Given the description of an element on the screen output the (x, y) to click on. 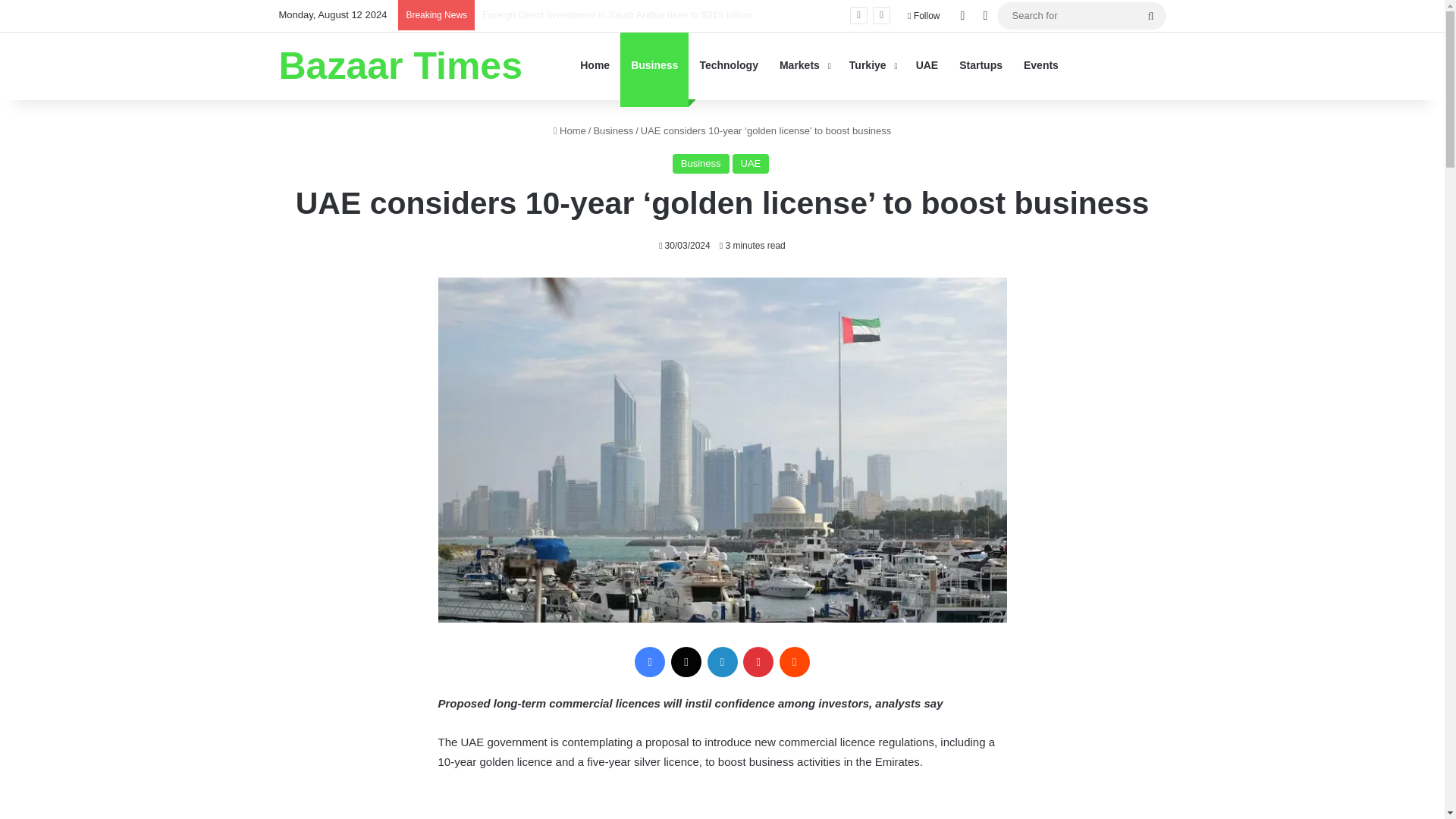
X (686, 662)
Technology (728, 65)
UAE (751, 163)
Search for (1080, 15)
Facebook (649, 662)
Home (569, 130)
Bazaar Times (400, 65)
Reddit (793, 662)
Reddit (793, 662)
Business (612, 130)
